Given the description of an element on the screen output the (x, y) to click on. 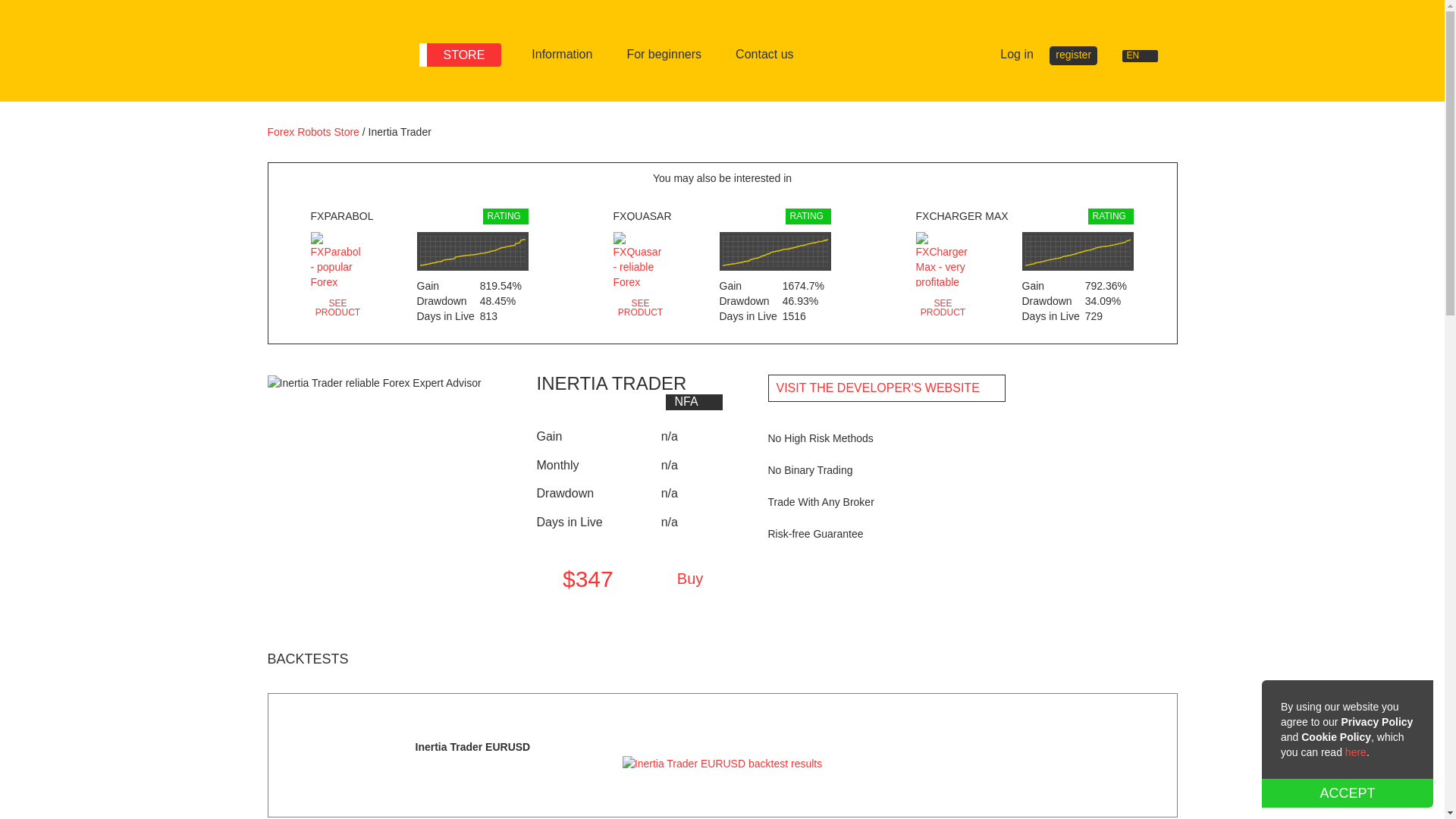
Log in (1009, 54)
register (1073, 55)
Contact us (764, 54)
EN (1146, 55)
Information (560, 54)
STORE (459, 54)
For beginners (663, 54)
